Given the description of an element on the screen output the (x, y) to click on. 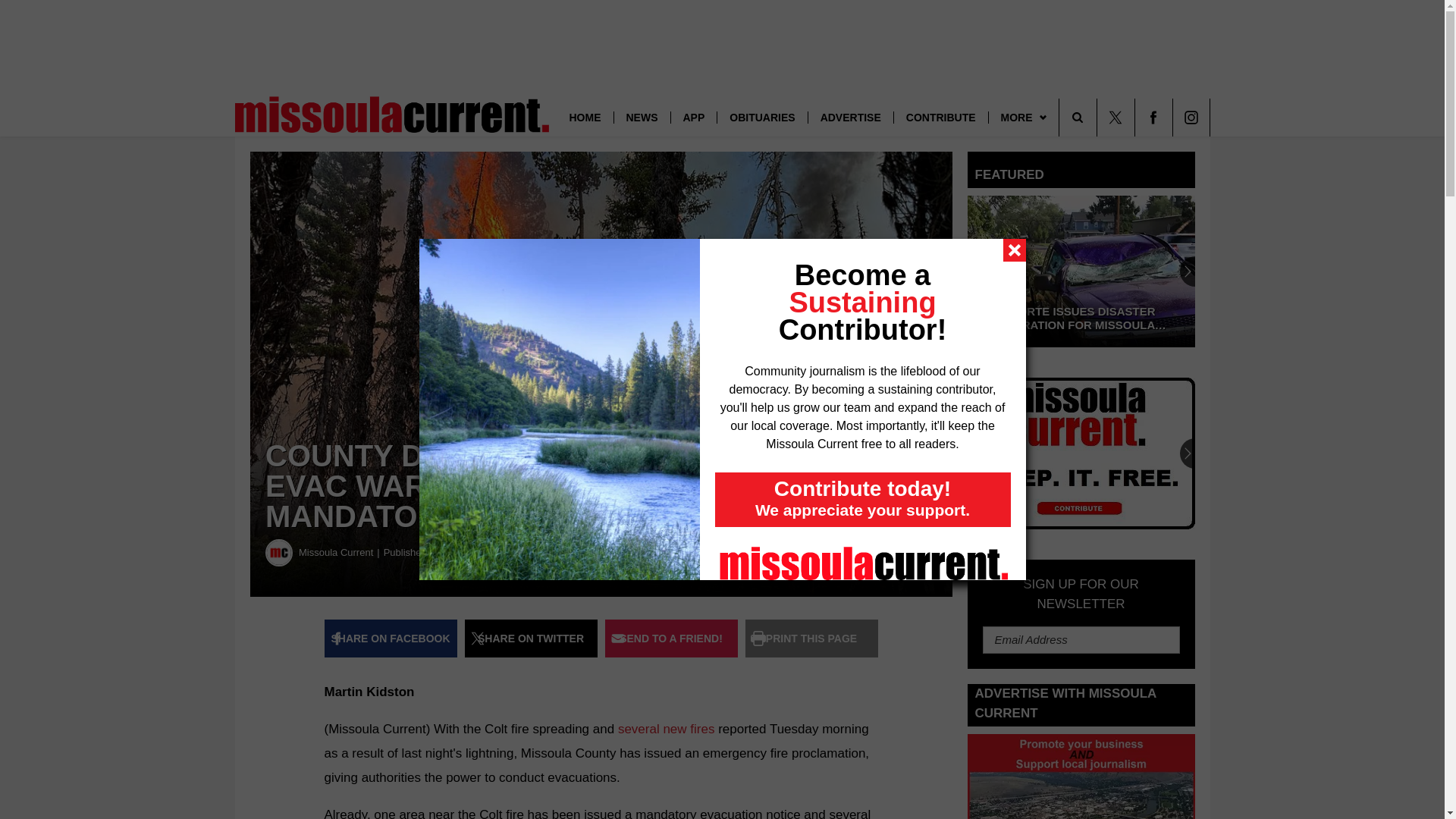
OBITUARIES (761, 117)
NEWS (640, 117)
SEARCH (1099, 117)
ADVERTISE (850, 117)
Visit us on Twitter (1115, 117)
Print this page (810, 638)
APP (693, 117)
CONTRIBUTE (940, 117)
SEARCH (1099, 117)
Share on Facebook (390, 638)
Missoula Current (278, 552)
Share on Twitter (530, 638)
Send to a friend! (671, 638)
SEARCH (1099, 117)
Visit us on Instagram (1190, 117)
